Given the description of an element on the screen output the (x, y) to click on. 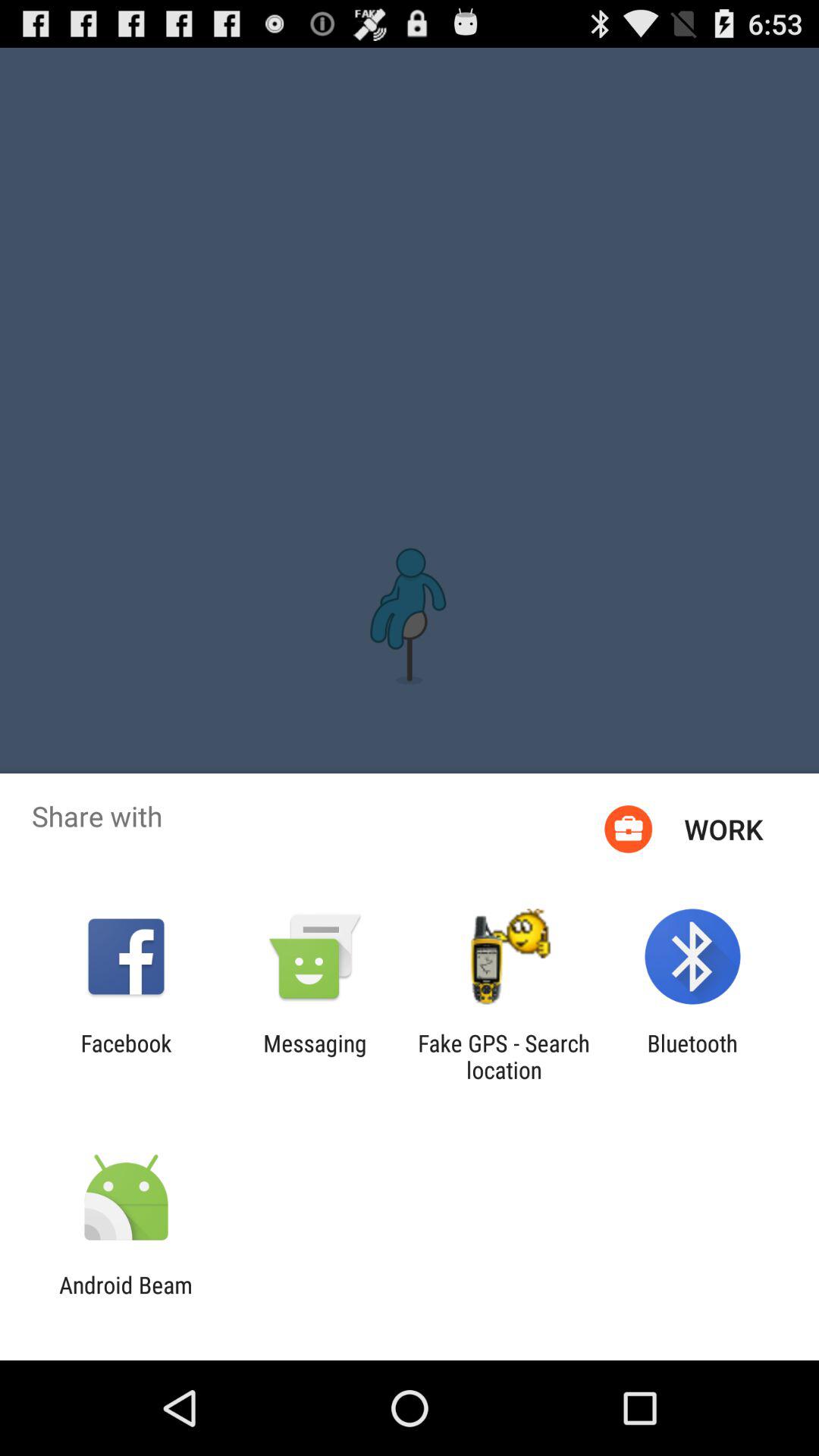
open app next to fake gps search (314, 1056)
